Given the description of an element on the screen output the (x, y) to click on. 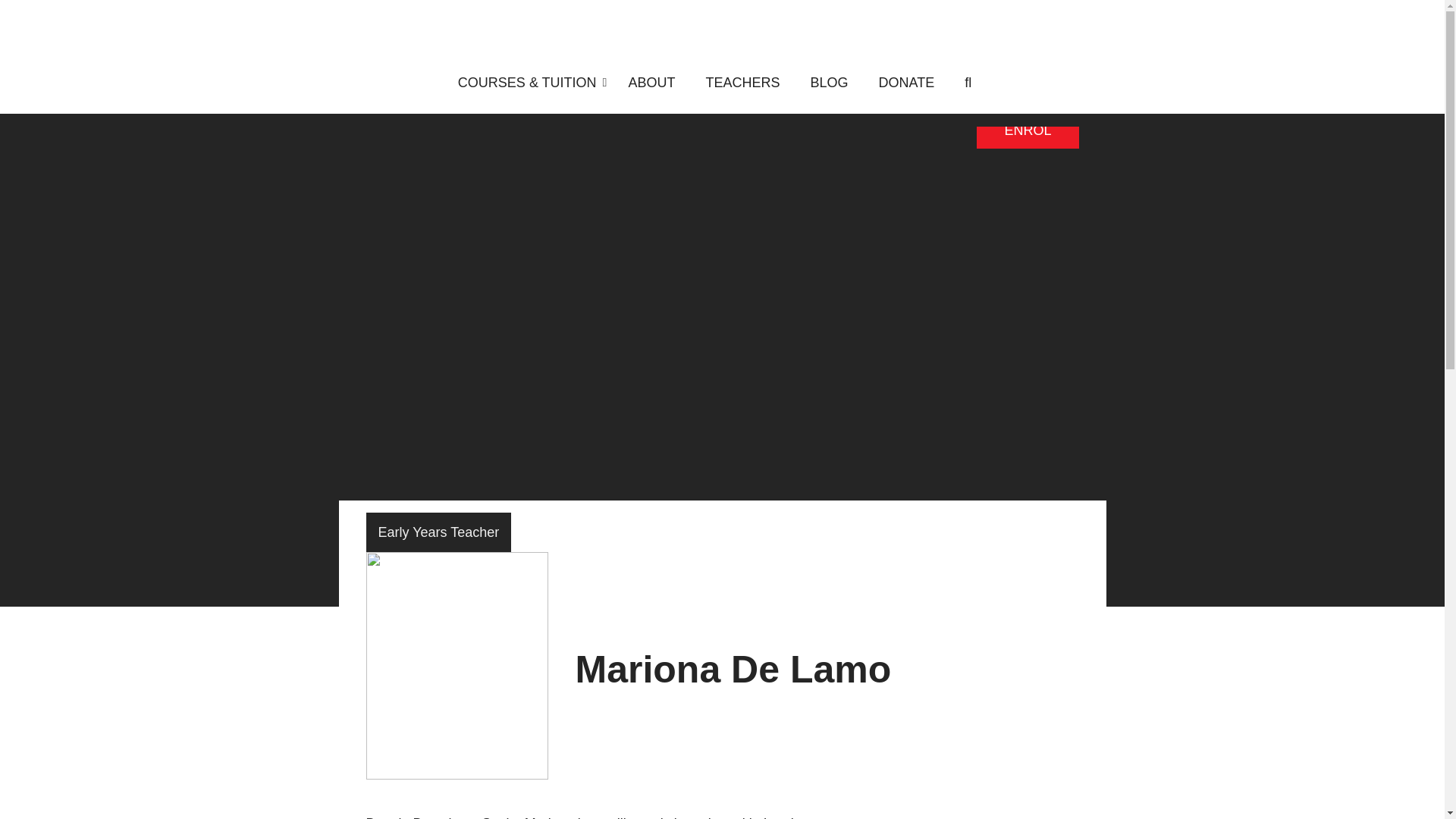
DONATE (906, 82)
Search (1026, 77)
TEACHERS (742, 82)
Search (1026, 77)
ENROL (1027, 130)
BLOG (828, 82)
Bursaries (199, 39)
Professional training (233, 9)
ABOUT (651, 82)
